Given the description of an element on the screen output the (x, y) to click on. 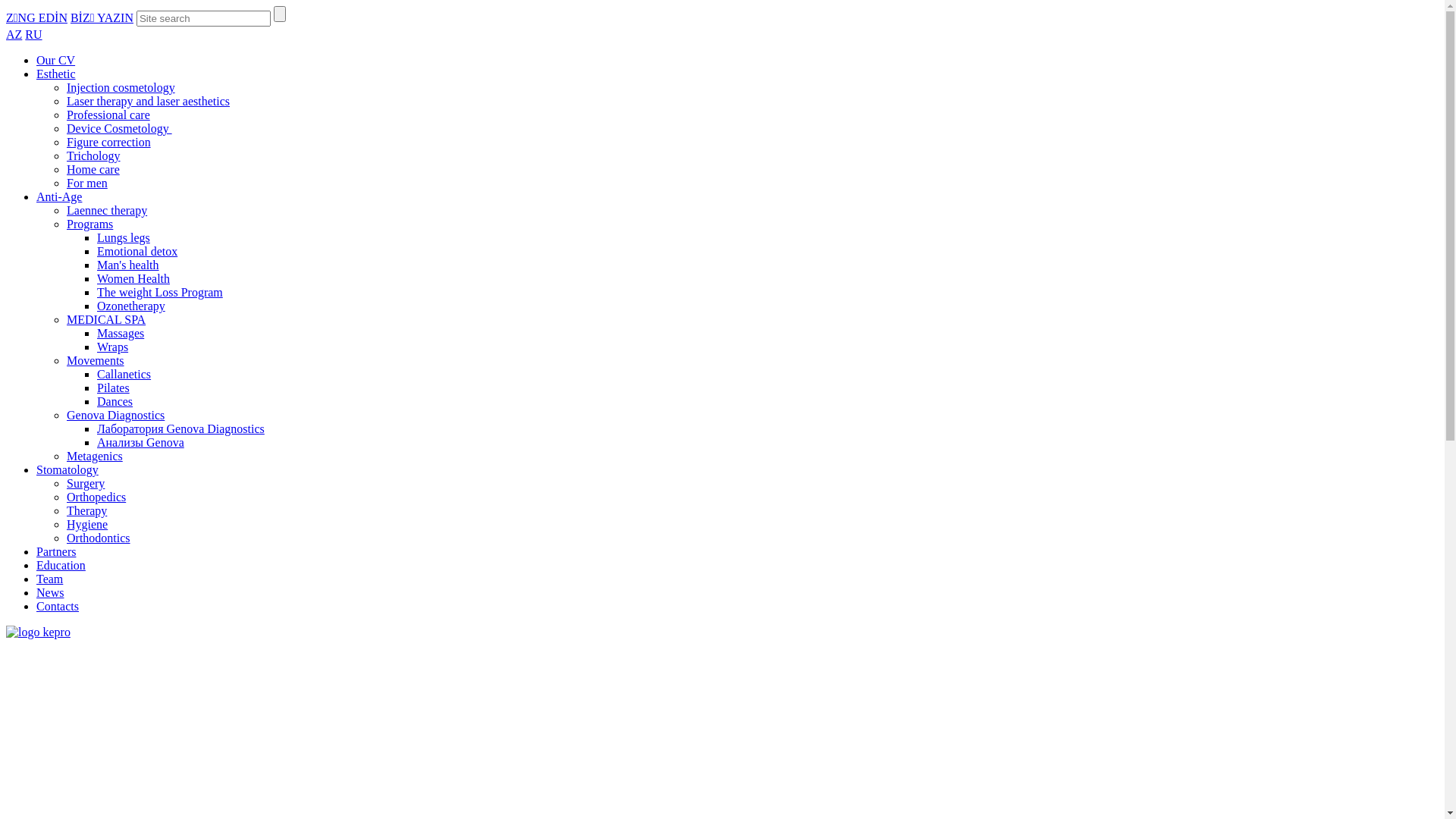
Callanetics Element type: text (123, 373)
MEDICAL SPA Element type: text (105, 319)
Contacts Element type: text (57, 605)
Lungs legs Element type: text (123, 237)
Ozonetherapy Element type: text (131, 305)
Wraps Element type: text (112, 346)
Esthetic Element type: text (55, 73)
Man's health Element type: text (128, 264)
Trichology Element type: text (93, 155)
Therapy Element type: text (86, 510)
Women Health Element type: text (133, 278)
AZ Element type: text (13, 34)
Pilates Element type: text (113, 387)
Orthodontics Element type: text (98, 537)
Metagenics Element type: text (94, 455)
Education Element type: text (60, 564)
Massages Element type: text (120, 332)
Programs Element type: text (89, 223)
Genova Diagnostics Element type: text (115, 414)
Figure correction Element type: text (108, 141)
Partners Element type: text (55, 551)
Device Cosmetology  Element type: text (119, 128)
For men Element type: text (86, 182)
Hygiene Element type: text (86, 523)
The weight Loss Program Element type: text (159, 291)
Team Element type: text (49, 578)
RU Element type: text (33, 34)
Movements Element type: text (95, 360)
Surgery Element type: text (85, 482)
Laennec therapy Element type: text (106, 209)
Dances Element type: text (114, 401)
Our CV Element type: text (55, 59)
Anti-Age Element type: text (58, 196)
News Element type: text (49, 592)
Stomatology Element type: text (67, 469)
Orthopedics Element type: text (95, 496)
Emotional detox Element type: text (137, 250)
Injection cosmetology Element type: text (120, 87)
Professional care Element type: text (108, 114)
Laser therapy and laser aesthetics Element type: text (147, 100)
Home care Element type: text (92, 169)
